Given the description of an element on the screen output the (x, y) to click on. 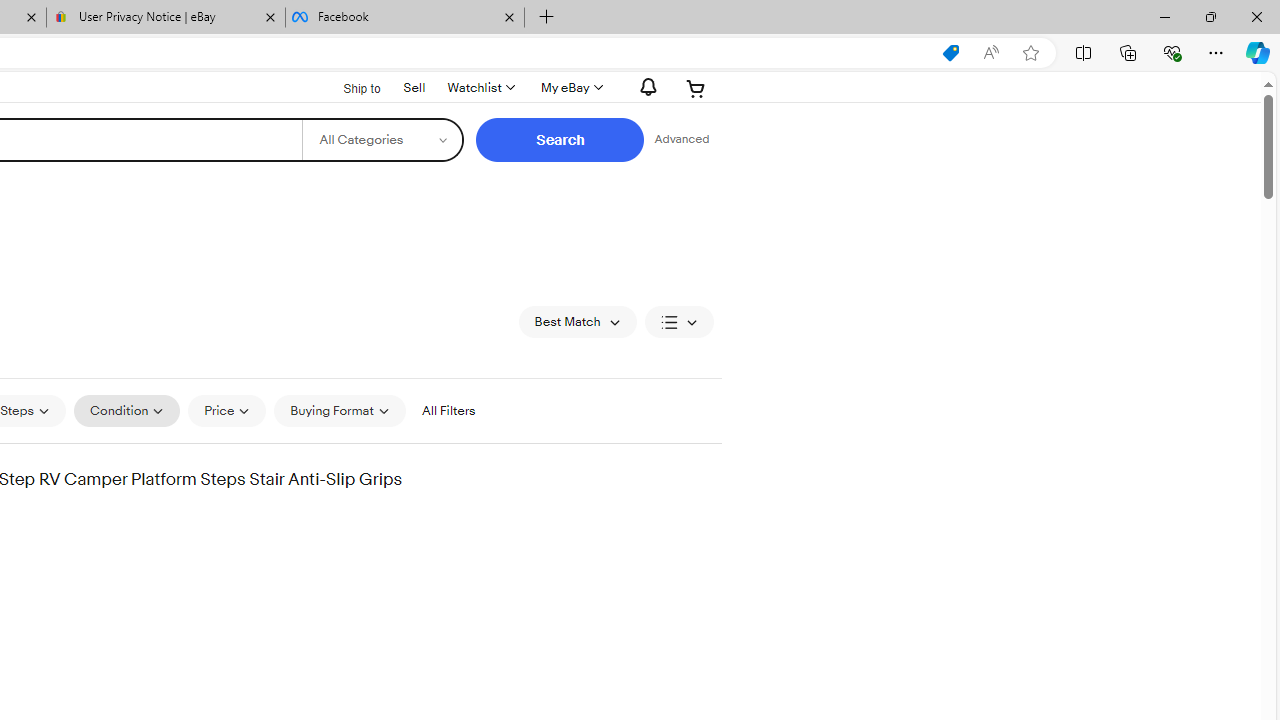
Facebook (404, 17)
All Filters (448, 410)
Advanced Search (681, 139)
Ship to (349, 89)
Sell (413, 86)
Sell (414, 87)
Ship to (349, 86)
Price (227, 410)
Condition (126, 410)
